Given the description of an element on the screen output the (x, y) to click on. 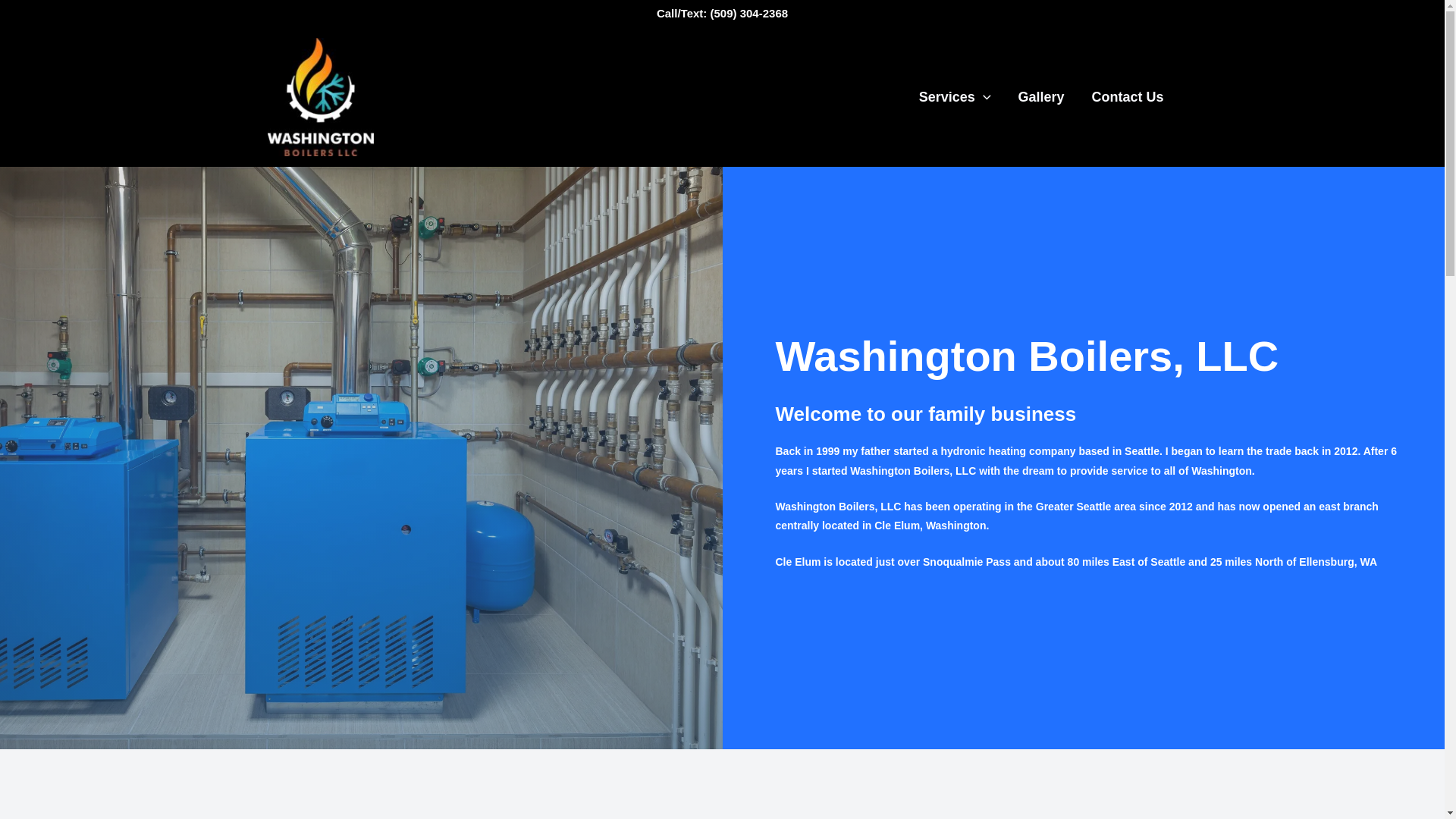
Contact Us (1127, 96)
Gallery (1041, 96)
Services (954, 96)
